Given the description of an element on the screen output the (x, y) to click on. 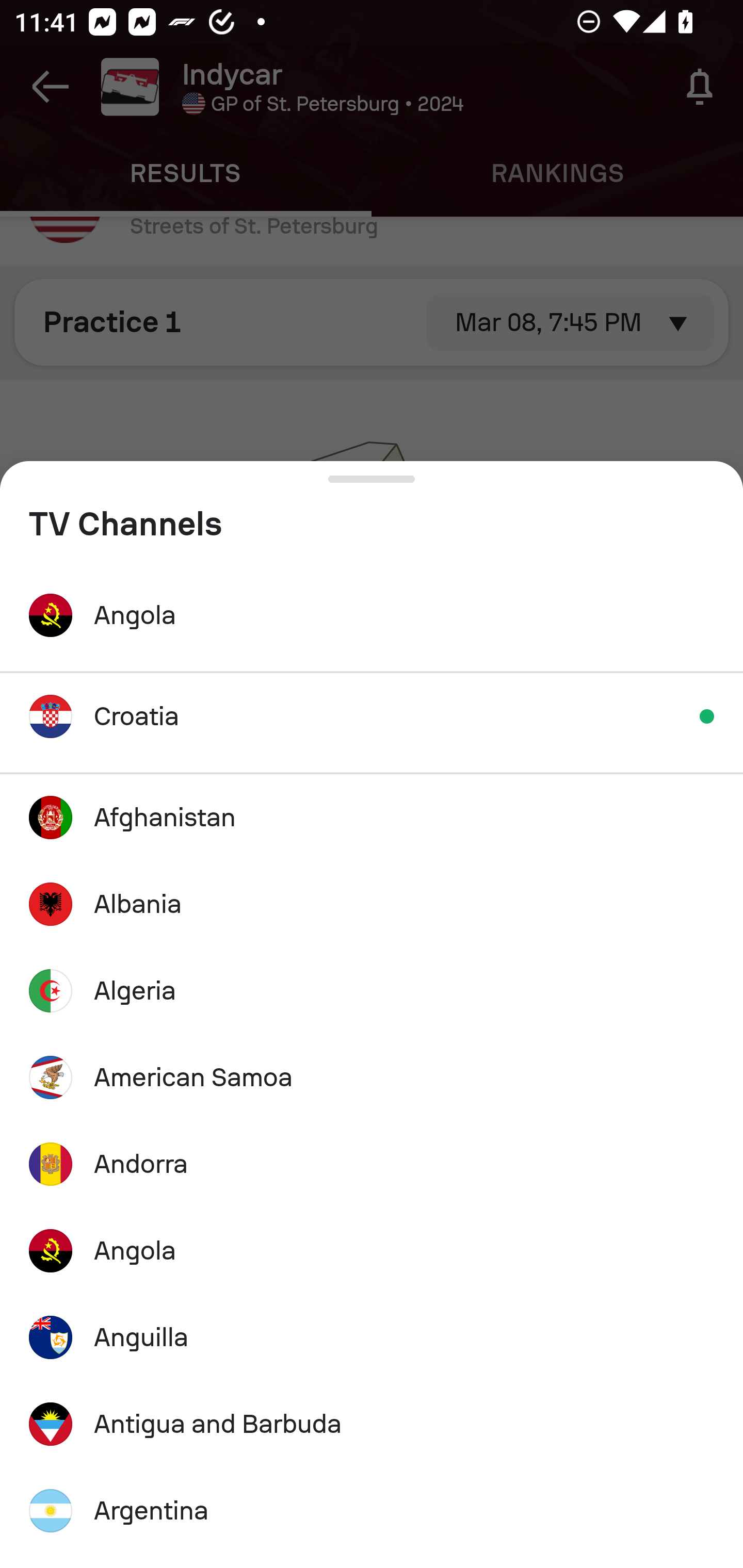
Angola (371, 615)
Croatia (371, 716)
Afghanistan (371, 817)
Albania (371, 903)
Algeria (371, 990)
American Samoa (371, 1077)
Andorra (371, 1164)
Angola (371, 1250)
Anguilla (371, 1337)
Antigua and Barbuda (371, 1424)
Argentina (371, 1510)
